Given the description of an element on the screen output the (x, y) to click on. 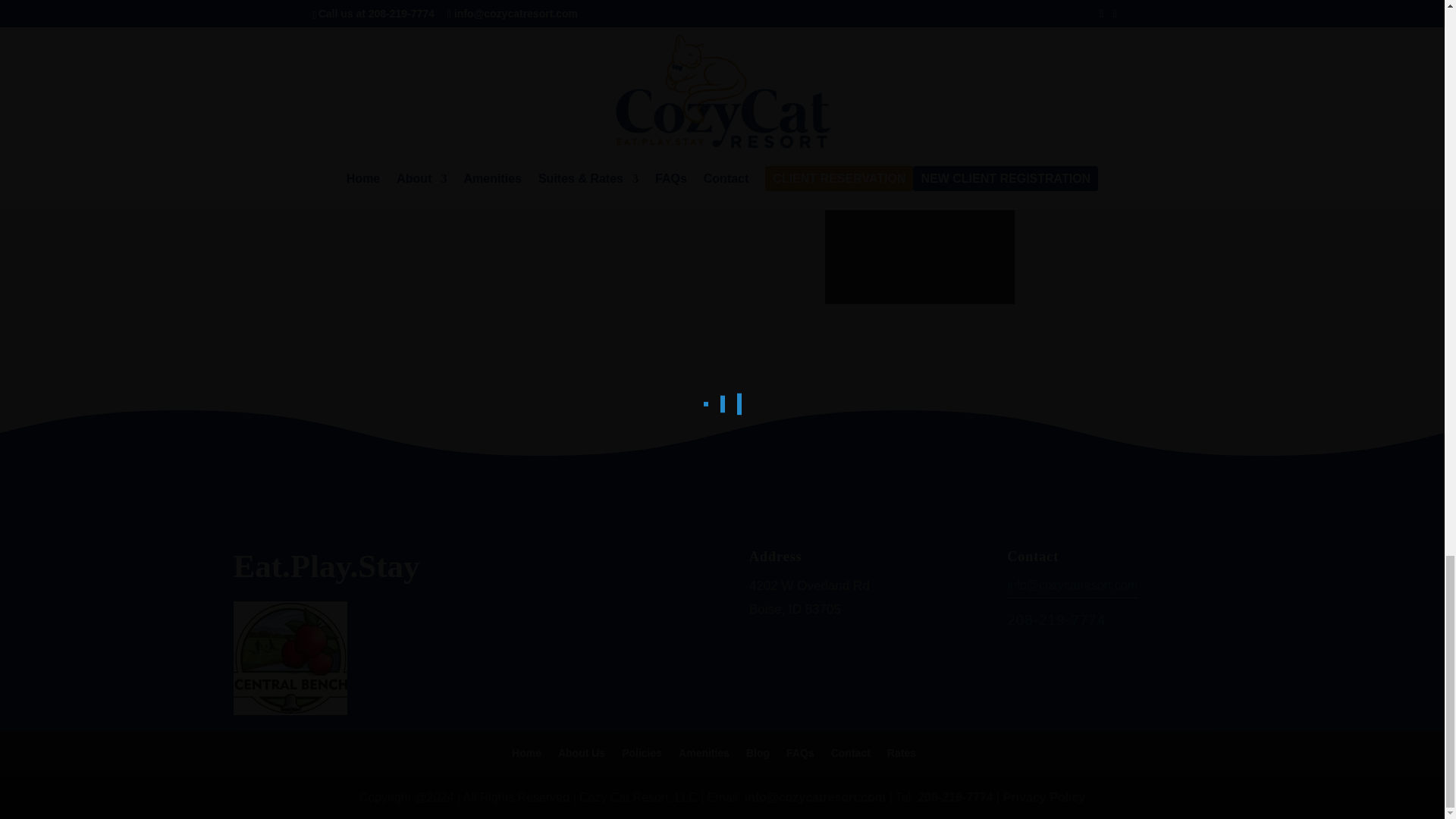
Central Bench (289, 657)
